Given the description of an element on the screen output the (x, y) to click on. 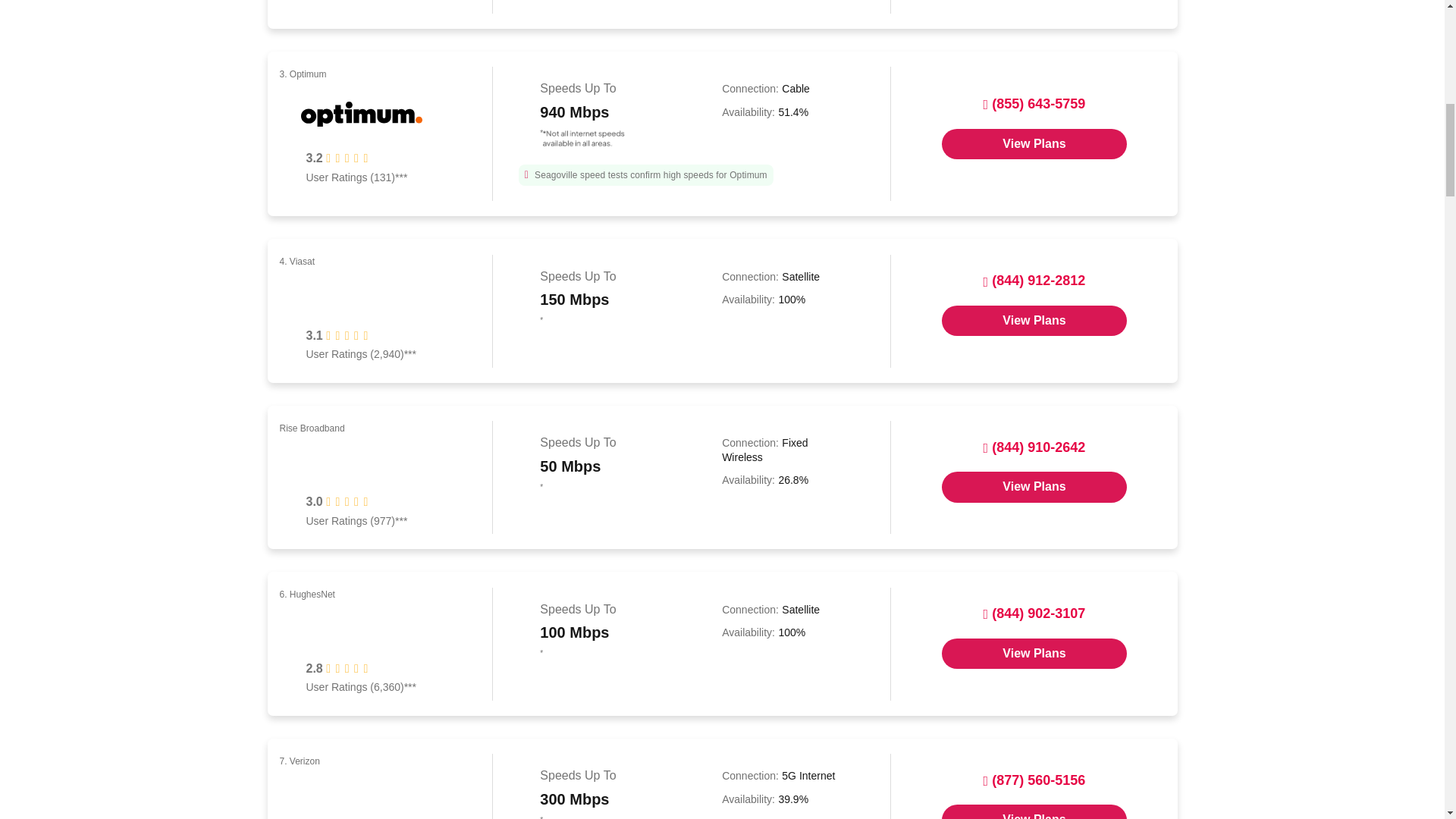
Opens in a new window (1034, 486)
Opens in a new window (1034, 320)
Opens in a new window (1034, 811)
Opens in a new window (1034, 653)
